Given the description of an element on the screen output the (x, y) to click on. 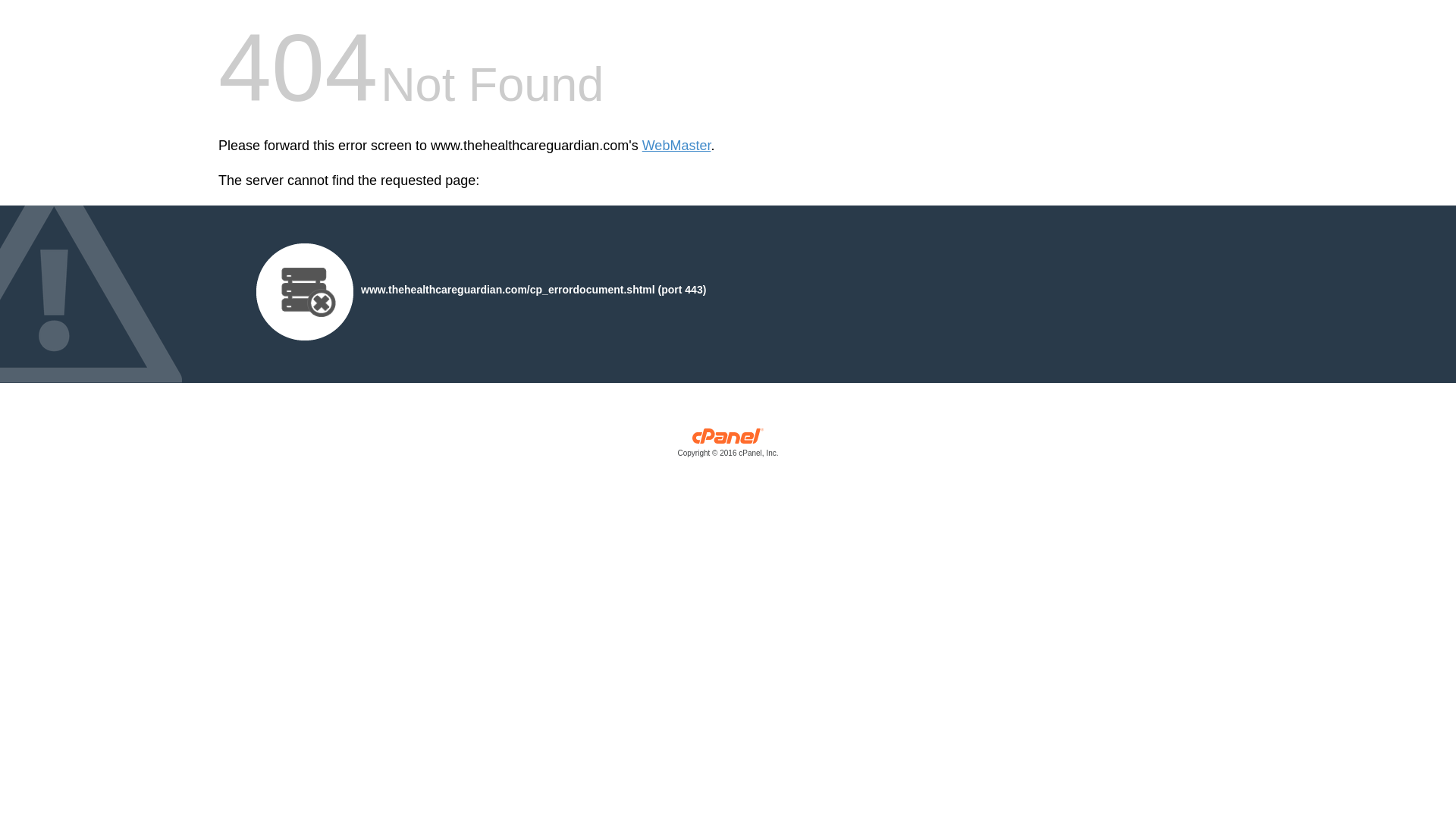
WebMaster (676, 145)
cPanel, Inc. (727, 446)
